Given the description of an element on the screen output the (x, y) to click on. 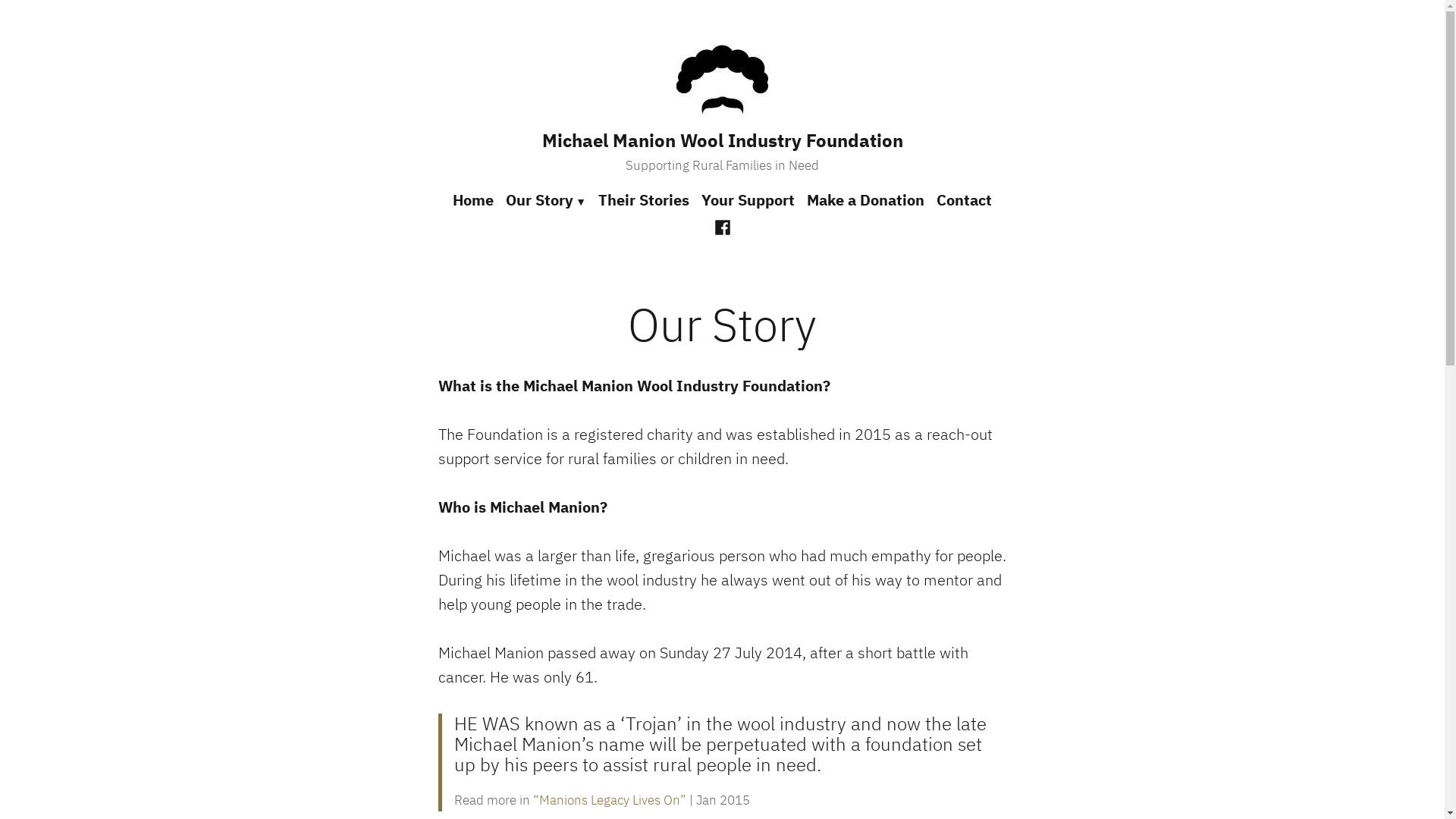
Their Stories Element type: text (643, 200)
Michael Manion Wool Industry Foundation Element type: text (721, 140)
Our Story Element type: text (545, 200)
Make a Donation Element type: text (865, 200)
Facebook Element type: text (722, 225)
Your Support Element type: text (747, 200)
Home Element type: text (475, 200)
Contact Element type: text (960, 200)
